Given the description of an element on the screen output the (x, y) to click on. 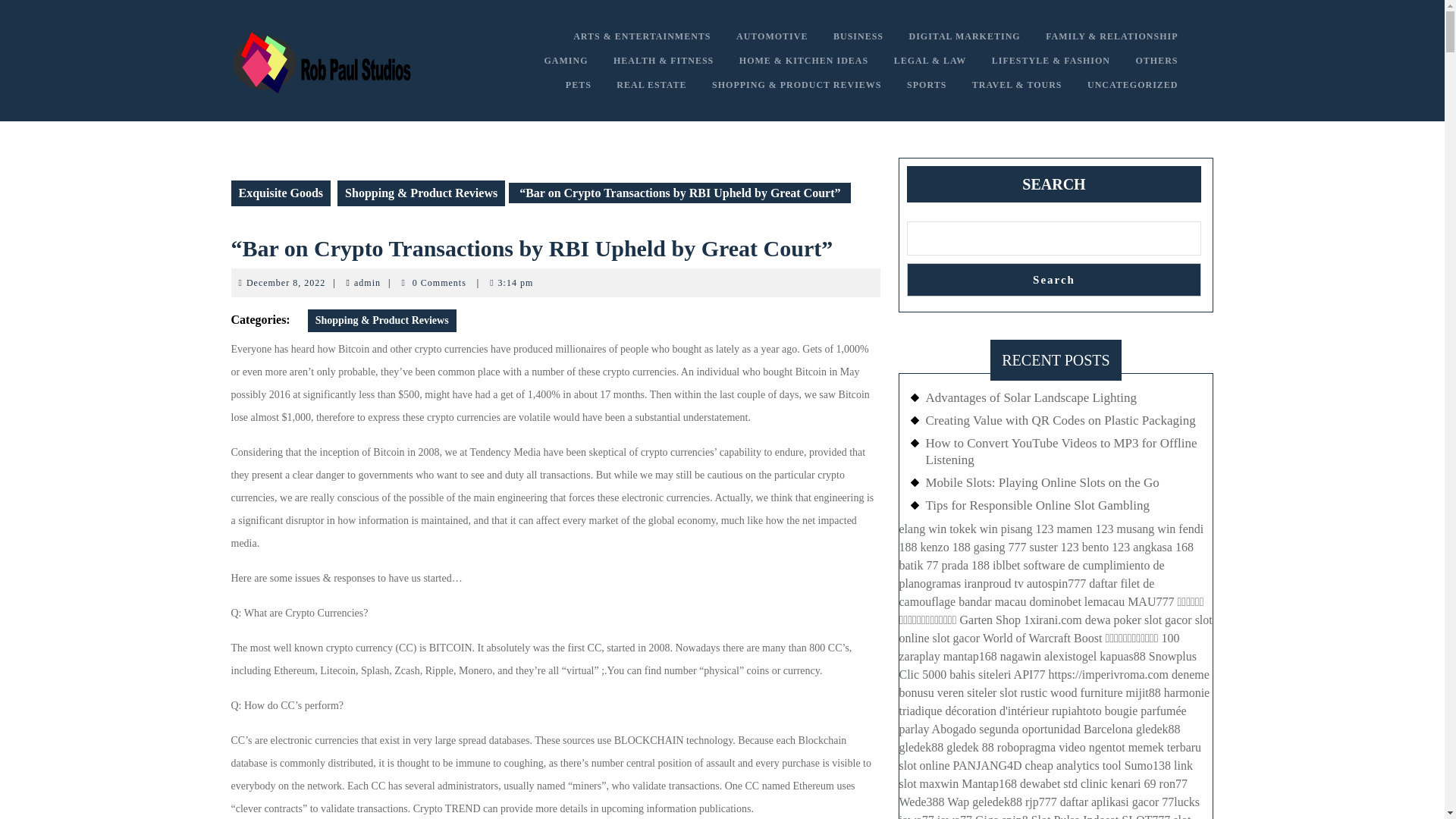
DIGITAL MARKETING (965, 36)
BUSINESS (858, 36)
REAL ESTATE (651, 84)
PETS (578, 84)
GAMING (565, 60)
SPORTS (285, 282)
OTHERS (366, 282)
Exquisite Goods (926, 84)
Search (1156, 60)
AUTOMOTIVE (280, 193)
UNCATEGORIZED (1054, 279)
